Given the description of an element on the screen output the (x, y) to click on. 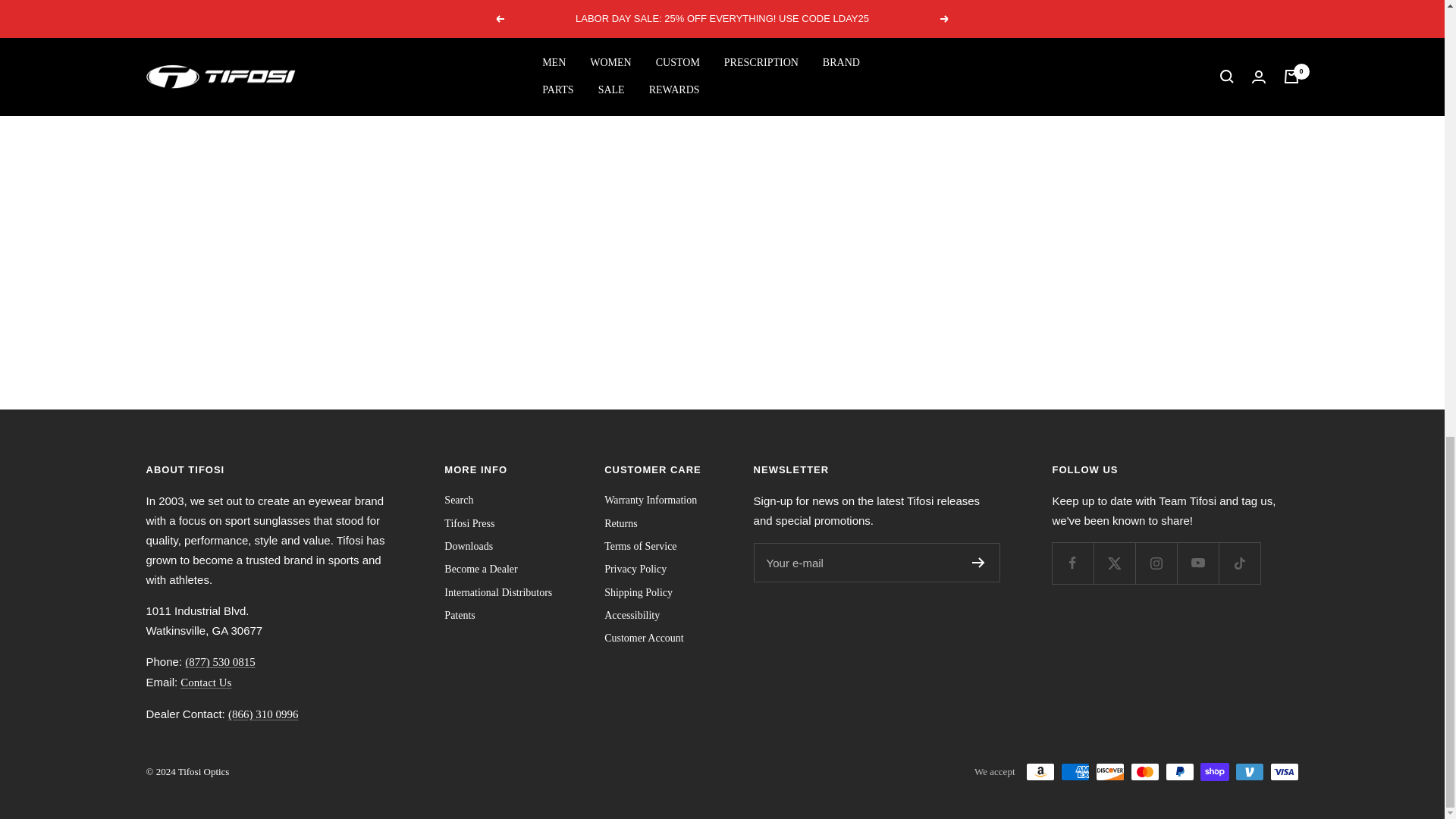
press (650, 500)
press (458, 500)
press (497, 592)
press (631, 615)
Contact Us (205, 682)
press (469, 524)
press (638, 592)
press (635, 569)
press (620, 524)
press (480, 569)
